Given the description of an element on the screen output the (x, y) to click on. 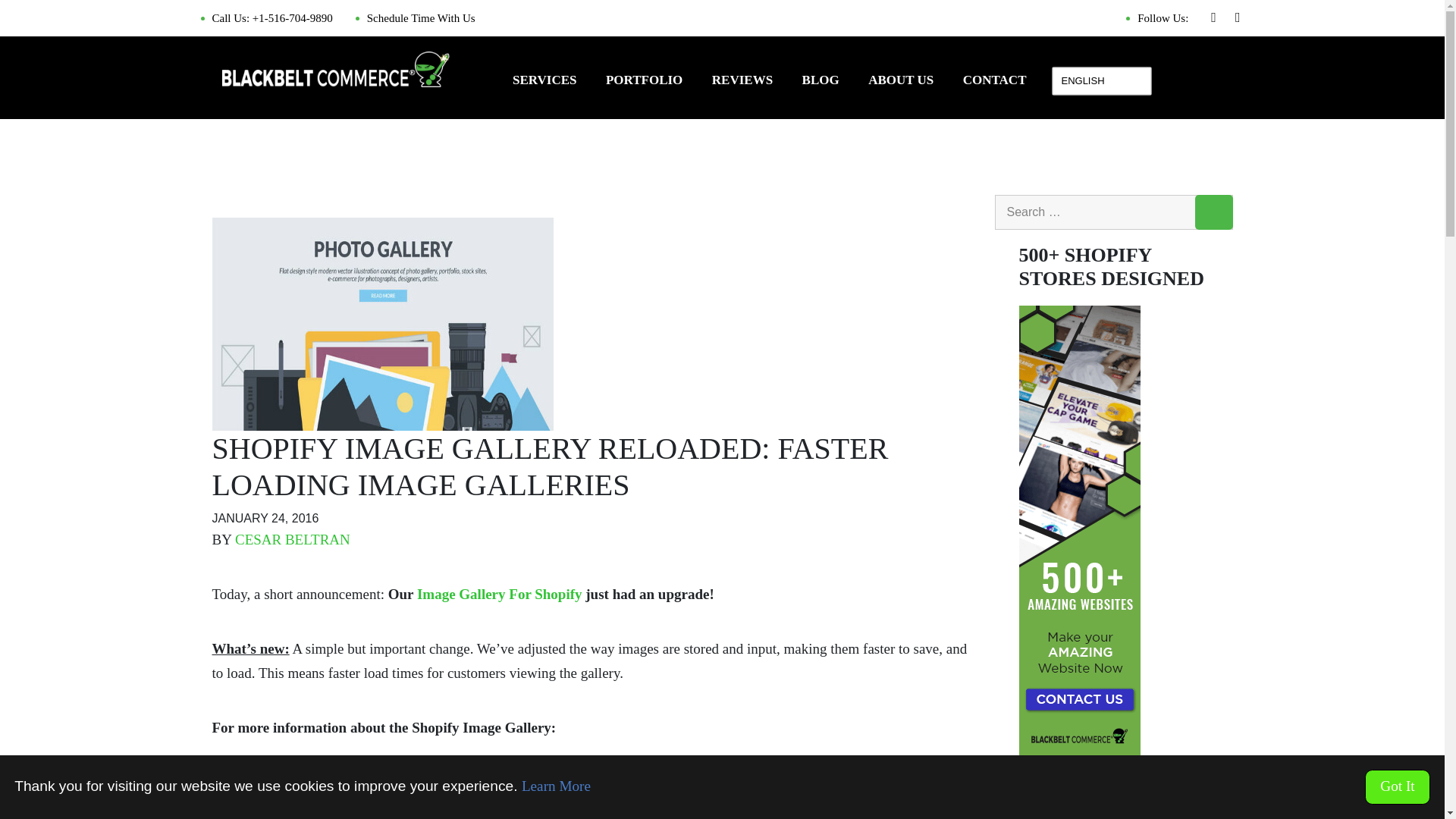
ABOUT US (900, 83)
Learn More (556, 785)
Schedule Time With Us (415, 18)
Got It (1397, 786)
Follow Us: (1156, 18)
SERVICES (544, 83)
Learn More (556, 785)
BLOG (821, 83)
Search (1214, 212)
PORTFOLIO (643, 83)
